Given the description of an element on the screen output the (x, y) to click on. 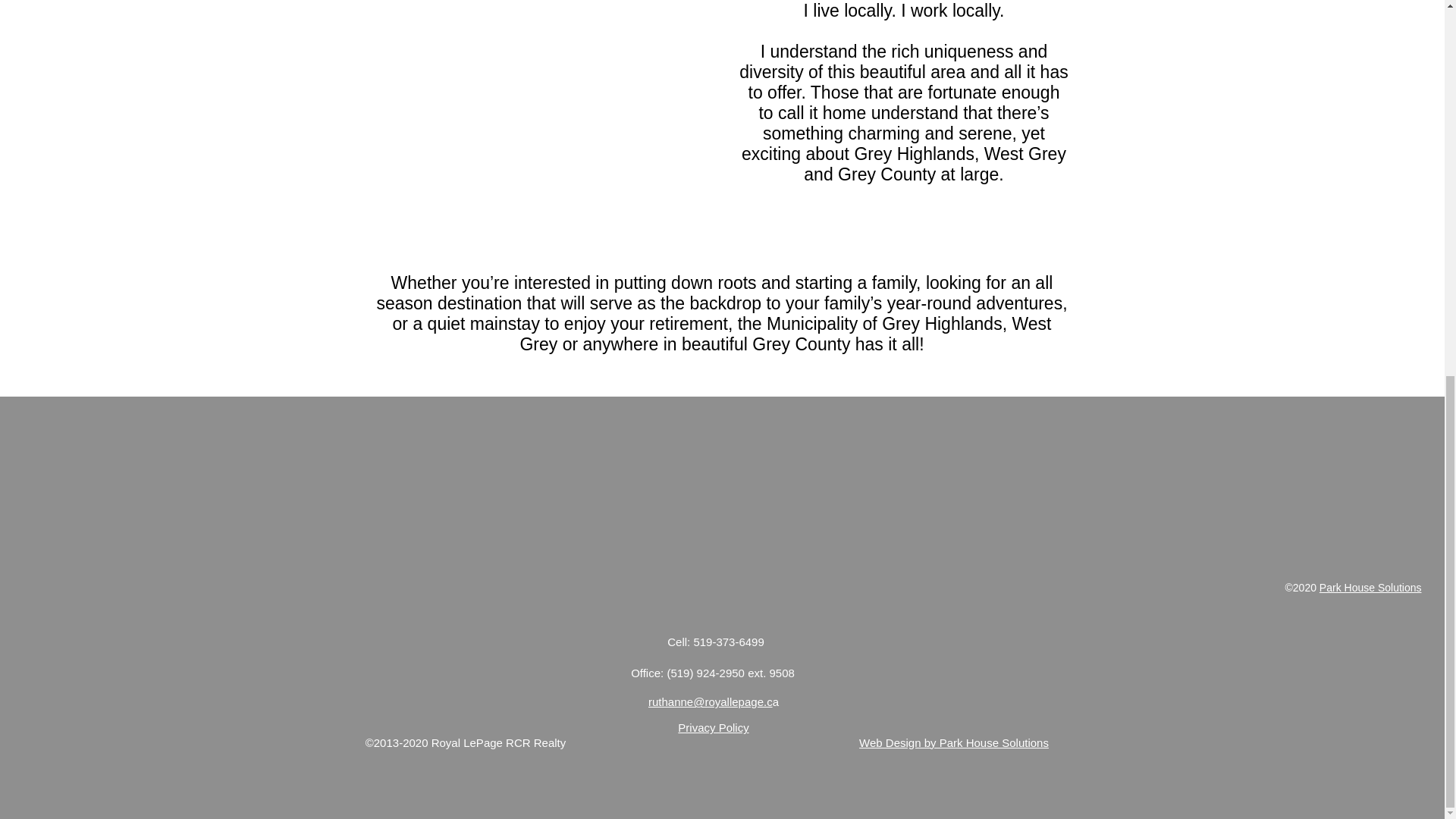
Park House Solutions (1370, 587)
Web Design by Park House Solutions (953, 742)
Privacy Policy (713, 727)
